Given the description of an element on the screen output the (x, y) to click on. 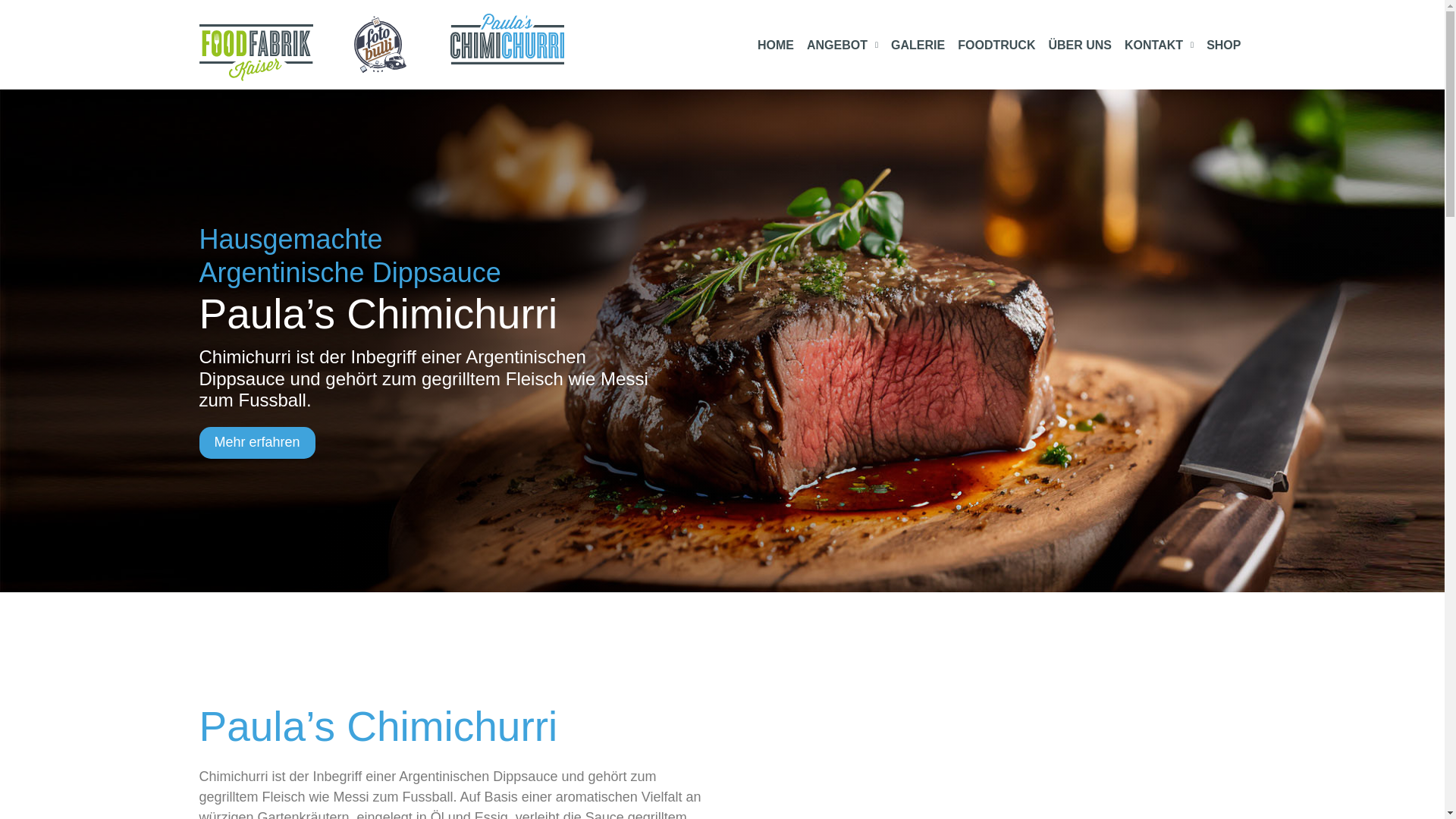
FOODTRUCK Element type: text (996, 44)
SHOP Element type: text (1223, 44)
Mehr erfahren Element type: text (256, 442)
KONTAKT Element type: text (1159, 44)
ANGEBOT Element type: text (842, 44)
GALERIE Element type: text (917, 44)
HOME Element type: text (775, 44)
